Given the description of an element on the screen output the (x, y) to click on. 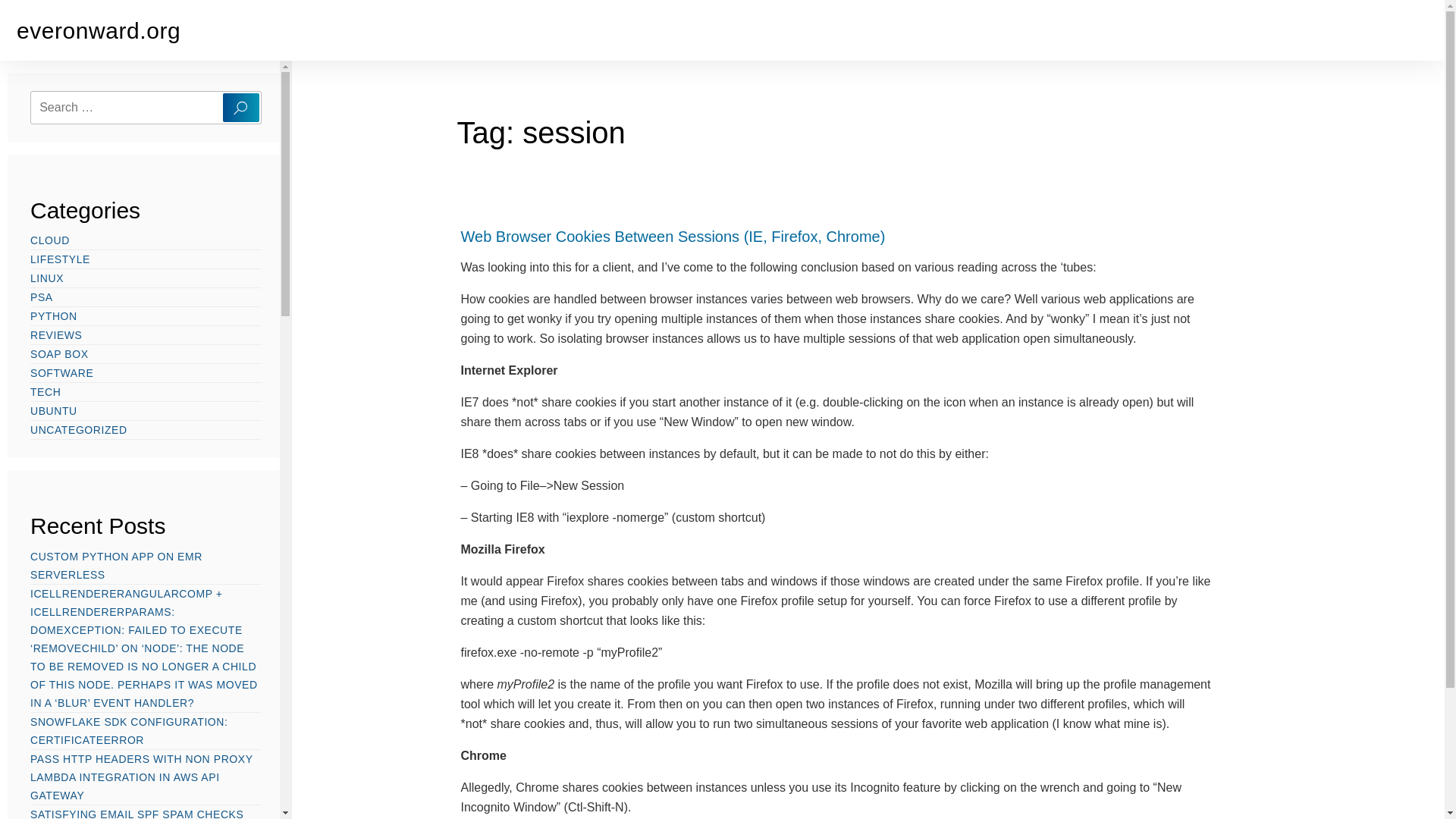
everonward.org (98, 30)
LINUX (47, 278)
PYTHON (53, 315)
UBUNTU (53, 410)
Search (240, 107)
PSA (41, 297)
SOAP BOX (59, 353)
TECH (45, 392)
SOFTWARE (61, 372)
REVIEWS (56, 334)
CLOUD (49, 239)
UNCATEGORIZED (79, 429)
LIFESTYLE (60, 258)
CUSTOM PYTHON APP ON EMR SERVERLESS (116, 565)
